Given the description of an element on the screen output the (x, y) to click on. 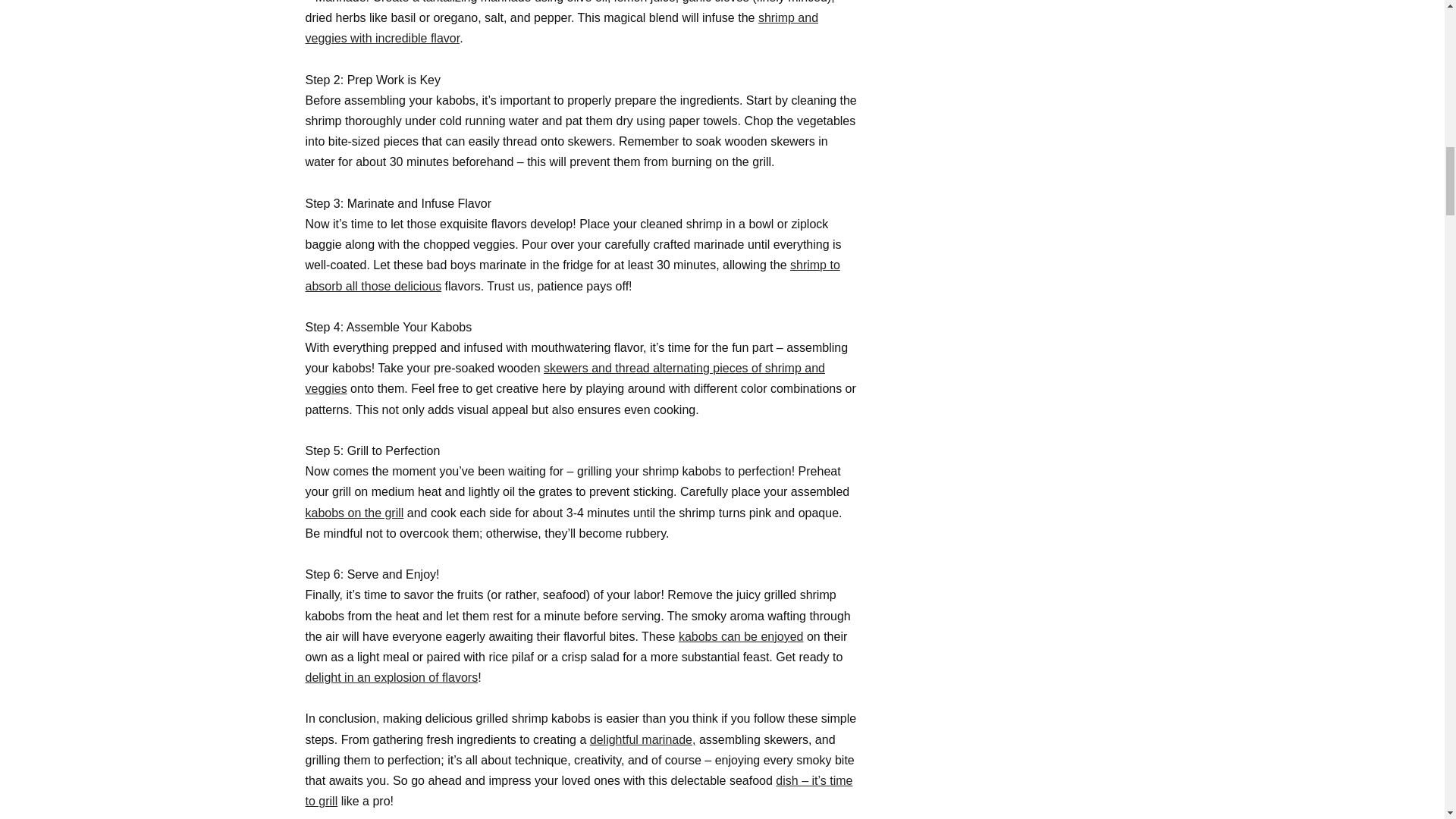
shrimp and veggies with incredible flavor (561, 28)
delightful marinade, (642, 739)
skewers and thread alternating pieces of shrimp and veggies (564, 377)
kabobs can be enjoyed (740, 635)
kabobs on the grill (353, 512)
shrimp to absorb all those delicious (572, 274)
delight in an explosion of flavors (390, 676)
